Given the description of an element on the screen output the (x, y) to click on. 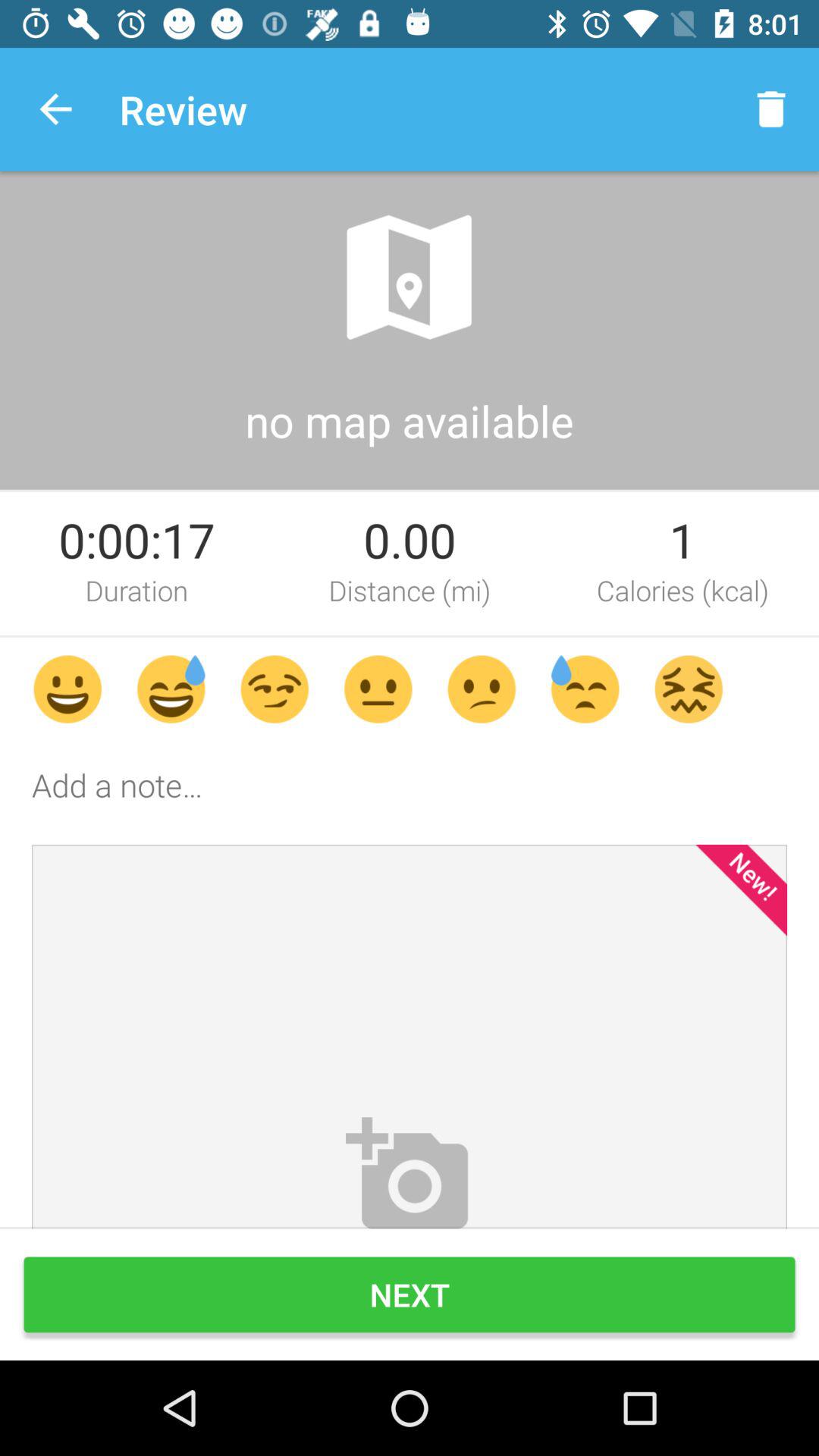
click on camera icon (409, 1170)
go to the fourth smiley of the page (377, 689)
select the image above next (409, 1036)
select the right corner emoji (689, 689)
select the icon above no map available (409, 277)
choose the first emoji above add a note (67, 689)
